Given the description of an element on the screen output the (x, y) to click on. 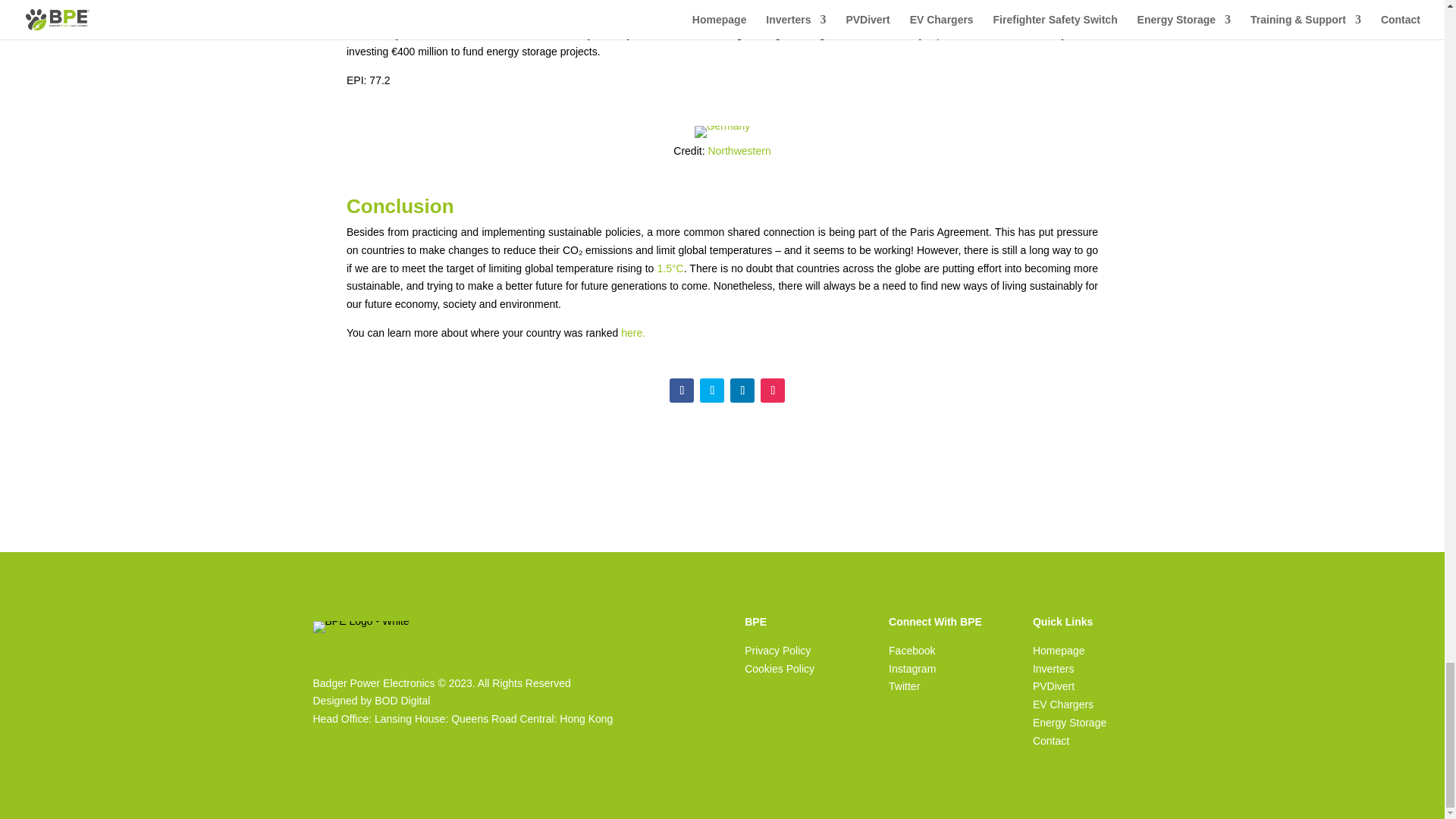
Follow on Twitter (711, 390)
Germany (722, 132)
Follow on Facebook (681, 390)
Follow on Instagram (772, 390)
BPE Logo - White (361, 626)
Follow on LinkedIn (742, 390)
